Given the description of an element on the screen output the (x, y) to click on. 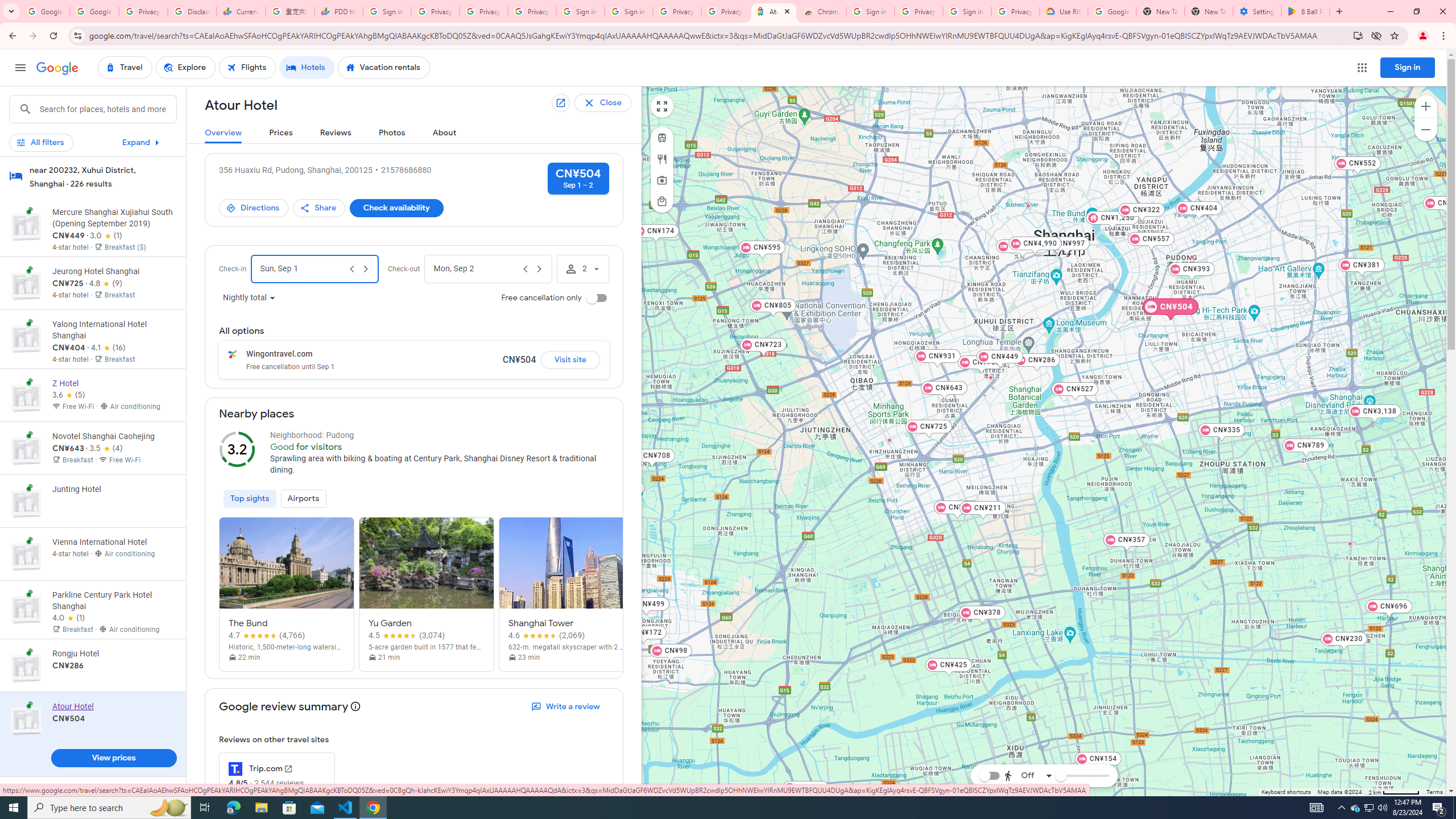
Sign in - Google Accounts (966, 11)
Hotels (306, 67)
Zoom out map (1425, 128)
Travel (124, 67)
Airports (303, 498)
Areas for shopping (661, 201)
Visit site for Wingontravel.com (569, 359)
4.6 out of 5 stars from 2,069 reviews (546, 635)
